Given the description of an element on the screen output the (x, y) to click on. 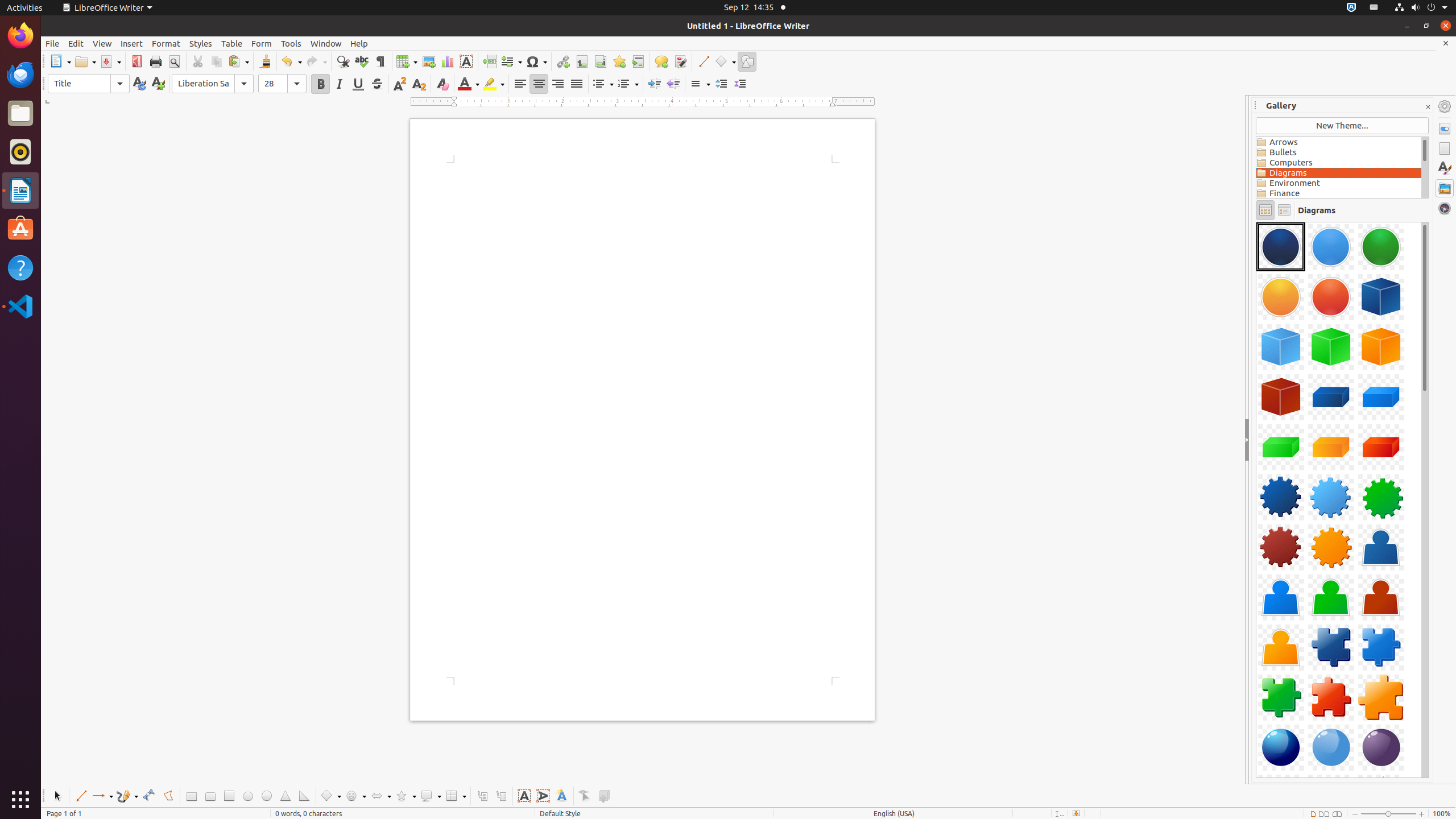
Find & Replace Element type: toggle-button (342, 61)
Component-Circle01-Transparent-DarkBlue Element type: list-item (1280, 246)
Save Element type: push-button (109, 61)
Comment Element type: push-button (660, 61)
Update Element type: push-button (138, 83)
